Given the description of an element on the screen output the (x, y) to click on. 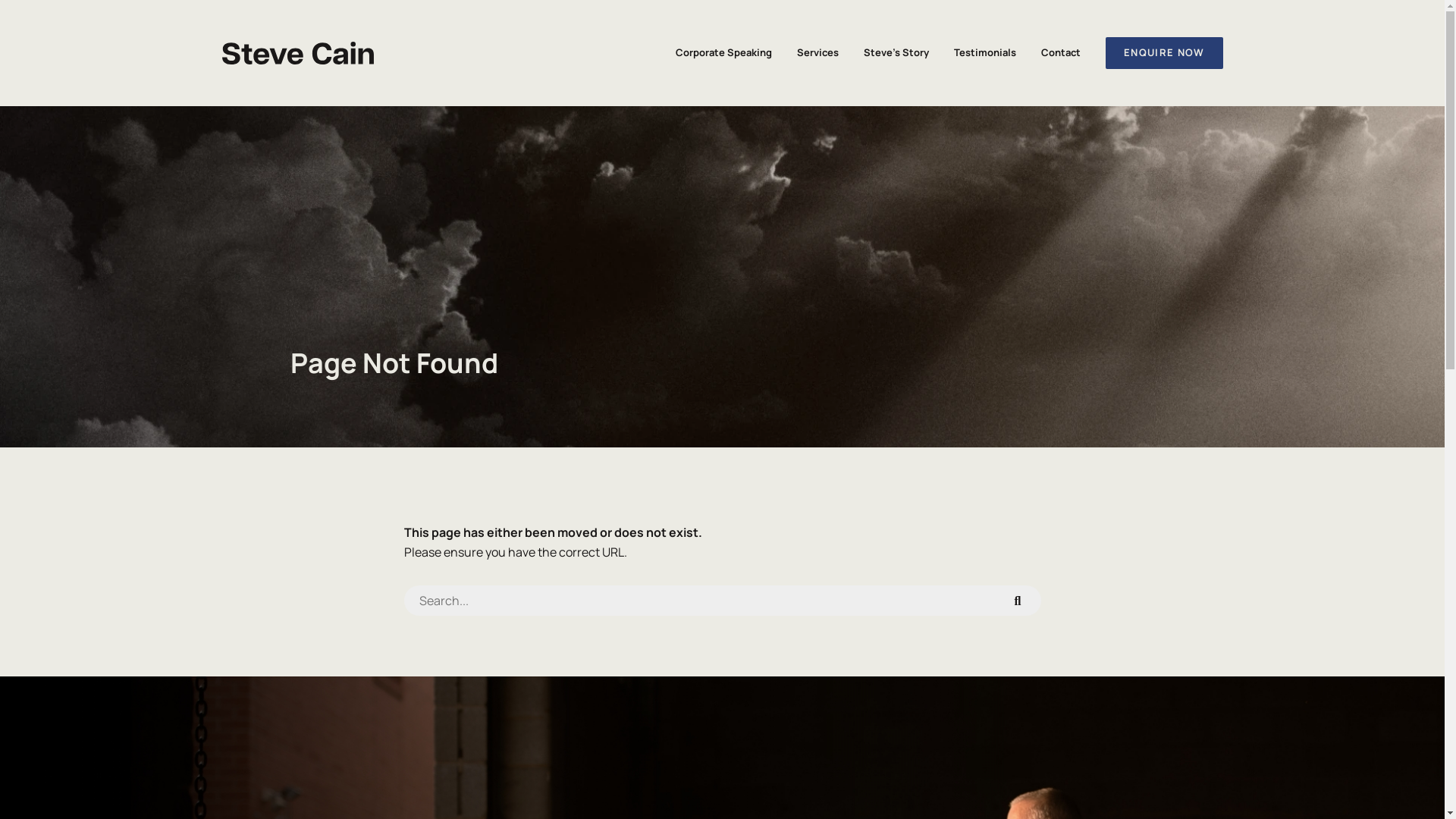
ENQUIRE NOW Element type: text (1163, 53)
Corporate Speaking Element type: text (723, 52)
Contact Element type: text (1060, 52)
Services Element type: text (817, 52)
Testimonials Element type: text (984, 52)
